Given the description of an element on the screen output the (x, y) to click on. 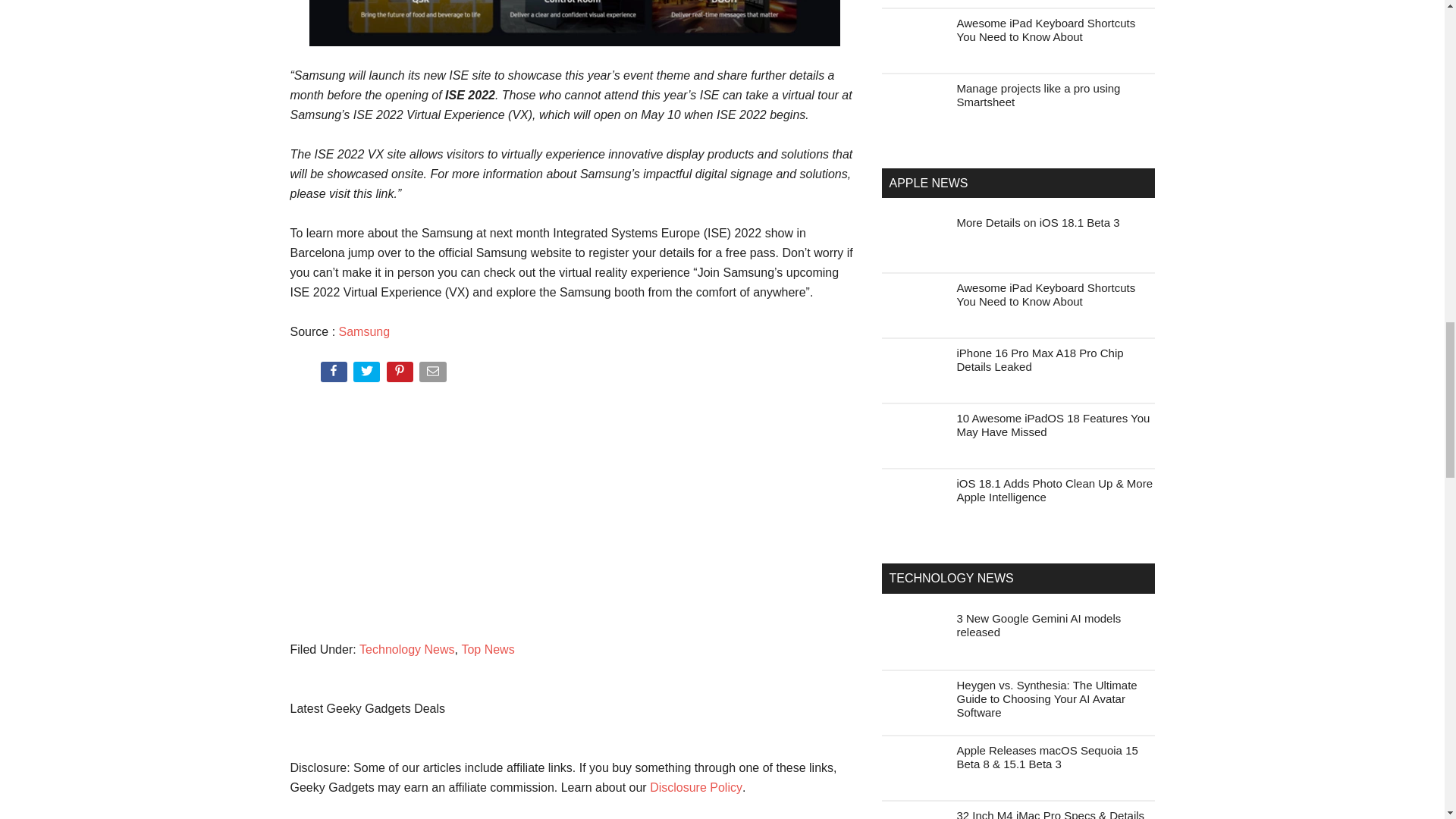
Technology News (406, 649)
Top News (487, 649)
Tweet (367, 374)
Email (433, 374)
Disclosure Policy (695, 787)
Samsung (364, 331)
Share on Facebook (334, 374)
Pin (401, 374)
